Given the description of an element on the screen output the (x, y) to click on. 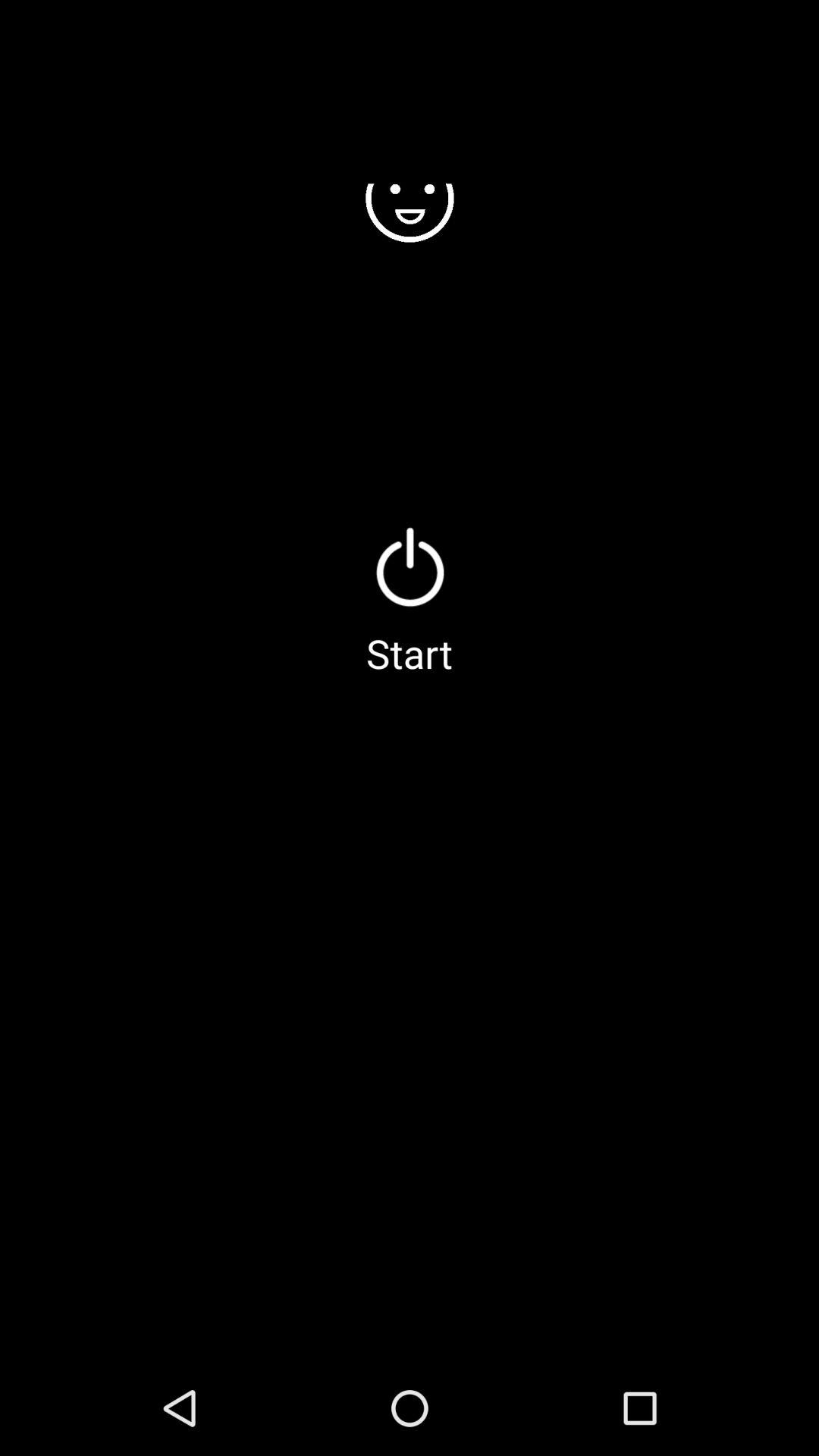
choose icon above start icon (409, 566)
